Given the description of an element on the screen output the (x, y) to click on. 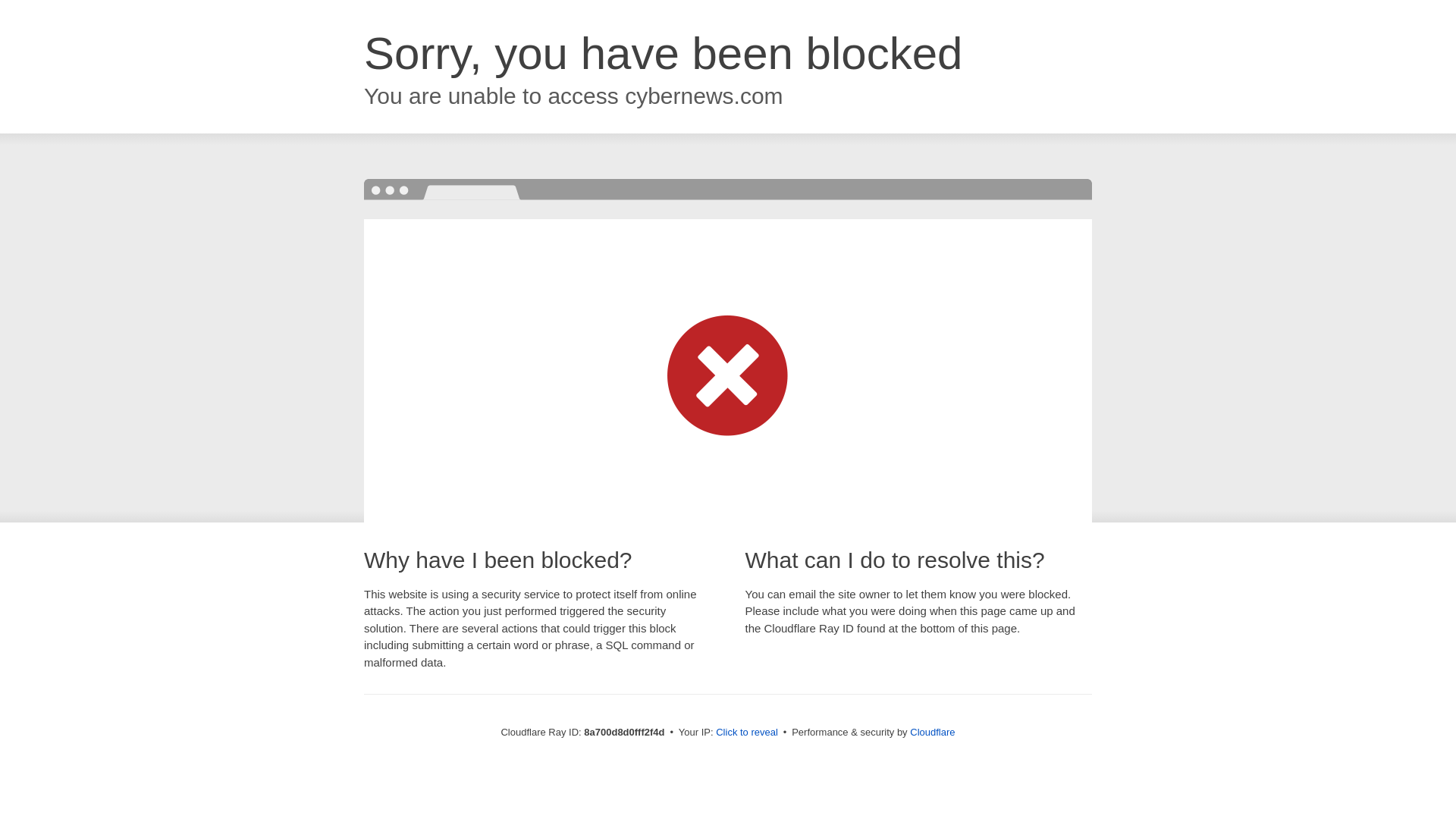
Cloudflare (932, 731)
Click to reveal (746, 732)
